Given the description of an element on the screen output the (x, y) to click on. 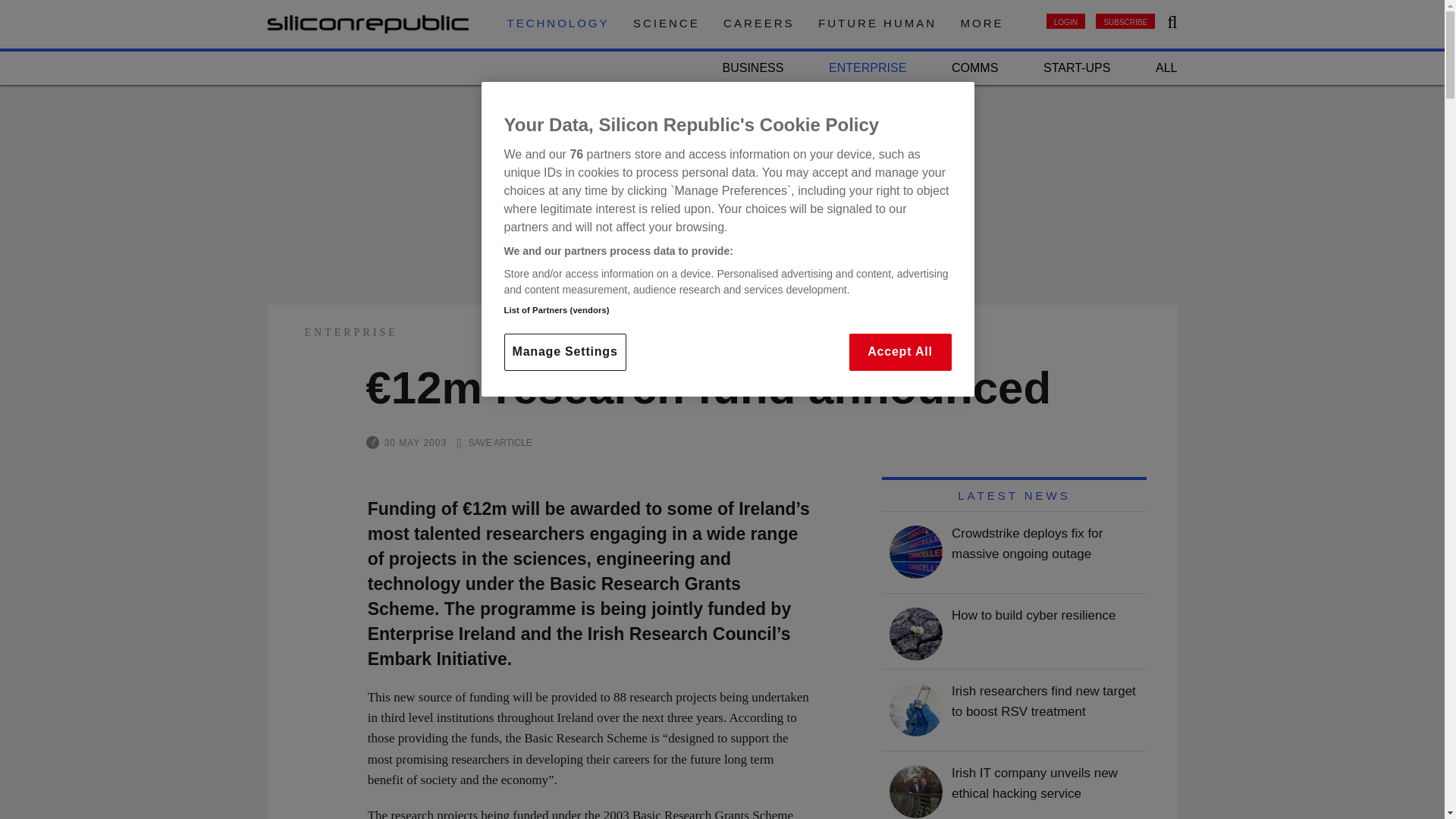
TECHNOLOGY (557, 22)
SCIENCE (666, 22)
